Given the description of an element on the screen output the (x, y) to click on. 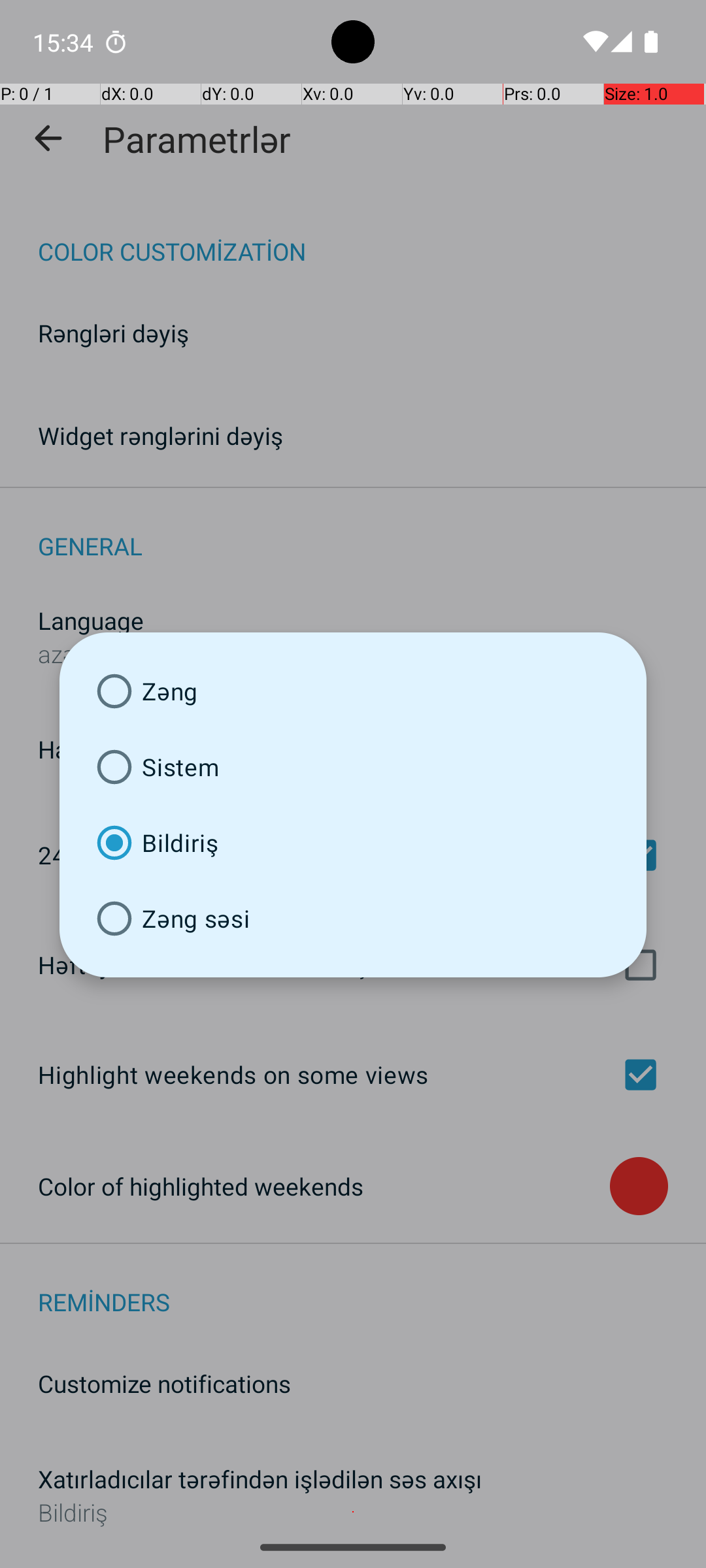
Zəng Element type: android.widget.RadioButton (352, 691)
Sistem Element type: android.widget.RadioButton (352, 766)
Bildiriş Element type: android.widget.RadioButton (352, 842)
Zəng səsi Element type: android.widget.RadioButton (352, 918)
